Given the description of an element on the screen output the (x, y) to click on. 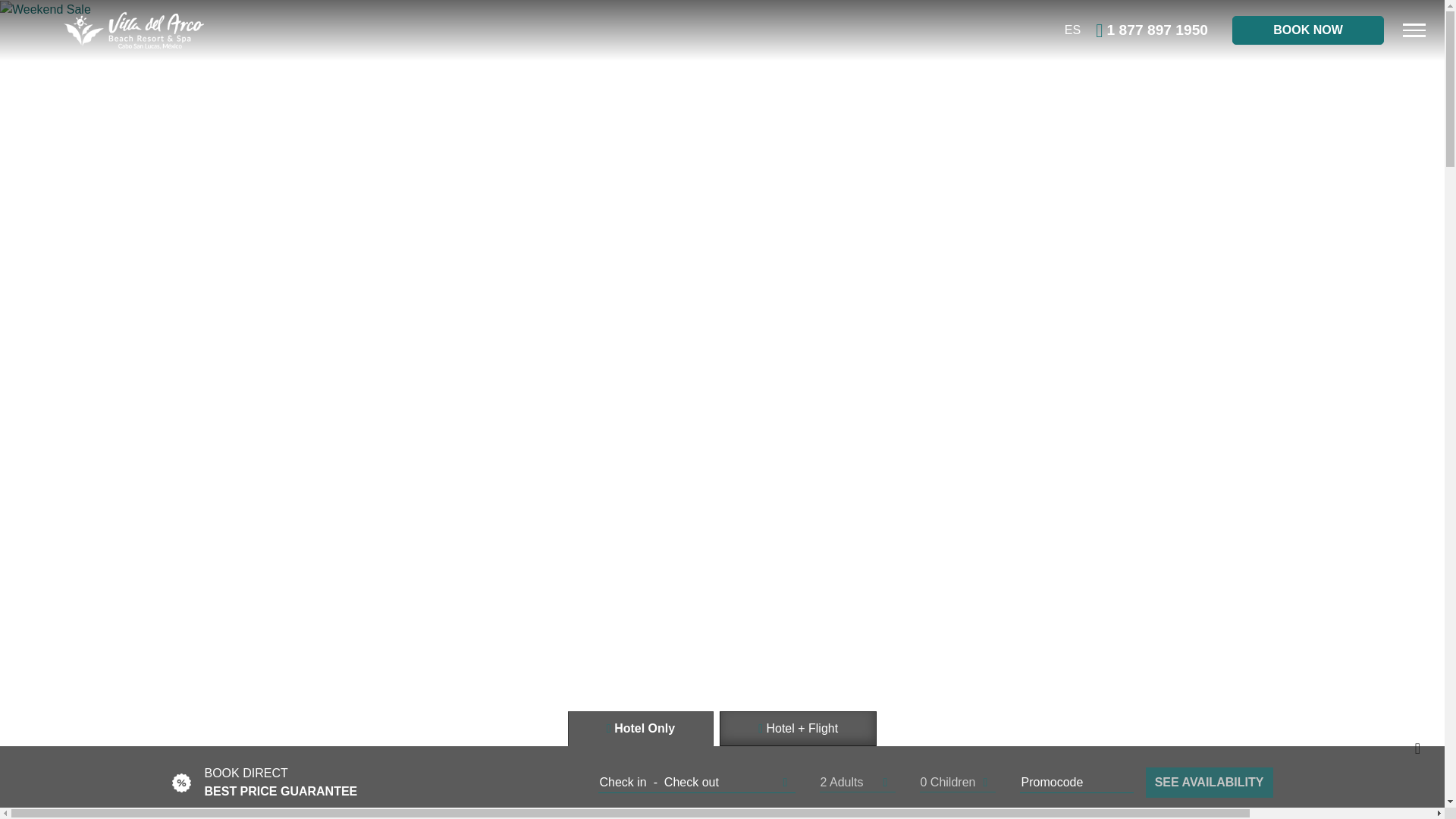
ES (1072, 29)
Check in  -  Check out (695, 782)
BOOK NOW (1307, 30)
1 877 897 1950 (1152, 29)
Weekend Sale (45, 9)
